Given the description of an element on the screen output the (x, y) to click on. 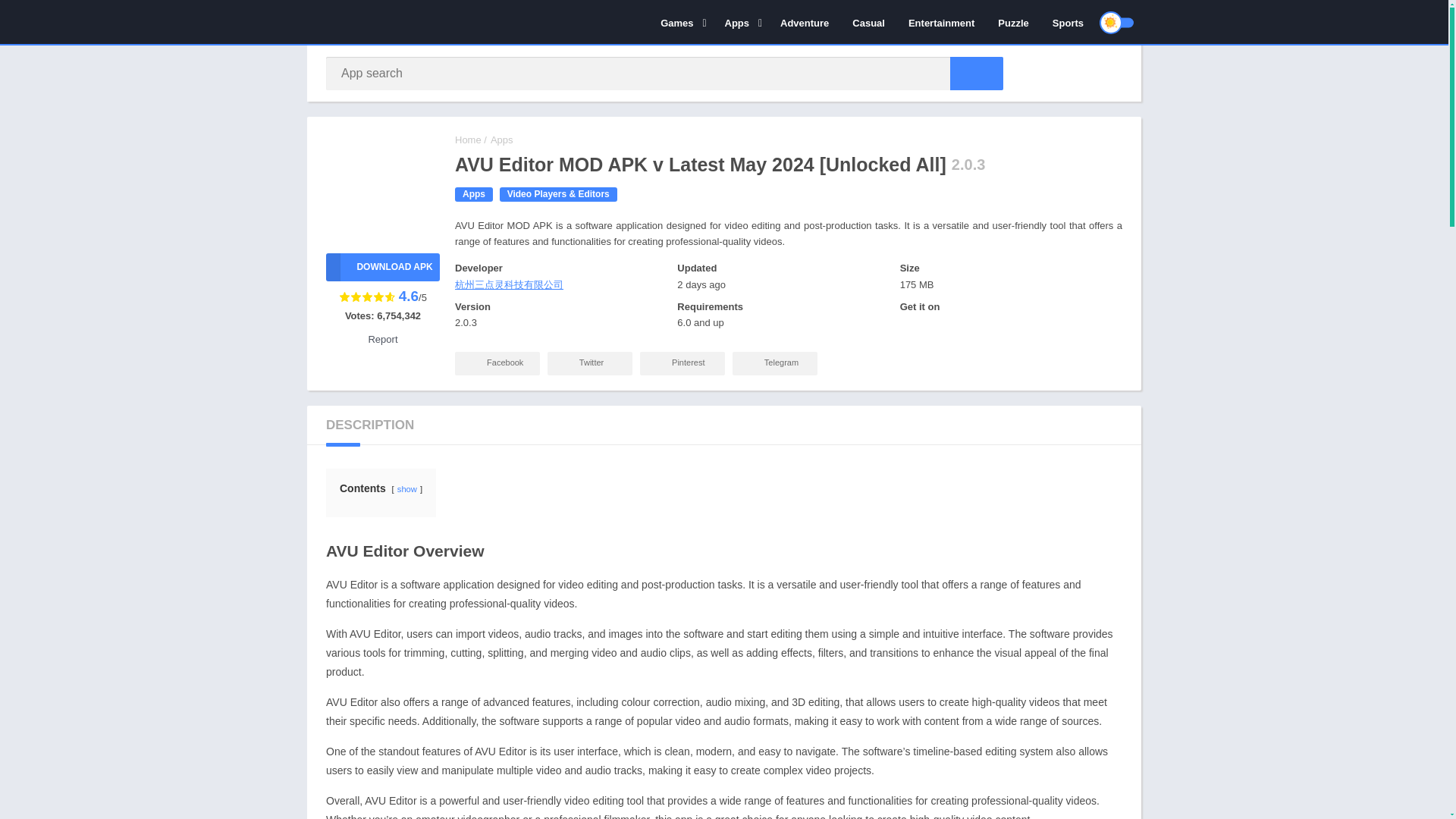
Download APK (382, 267)
APK Mod King (467, 139)
App search (976, 73)
Apps (740, 22)
Games (680, 22)
